Given the description of an element on the screen output the (x, y) to click on. 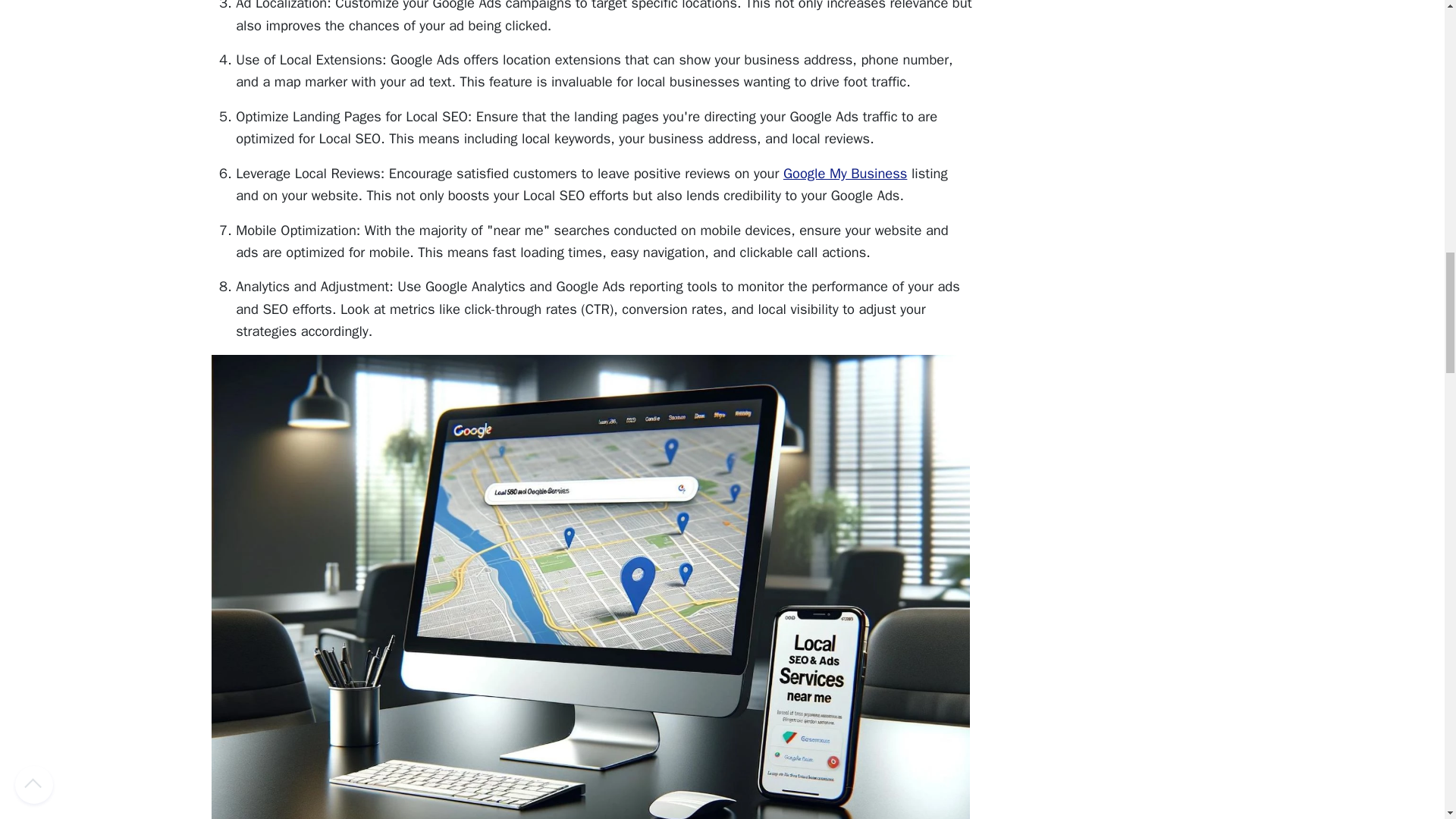
Google My Business (845, 172)
